Given the description of an element on the screen output the (x, y) to click on. 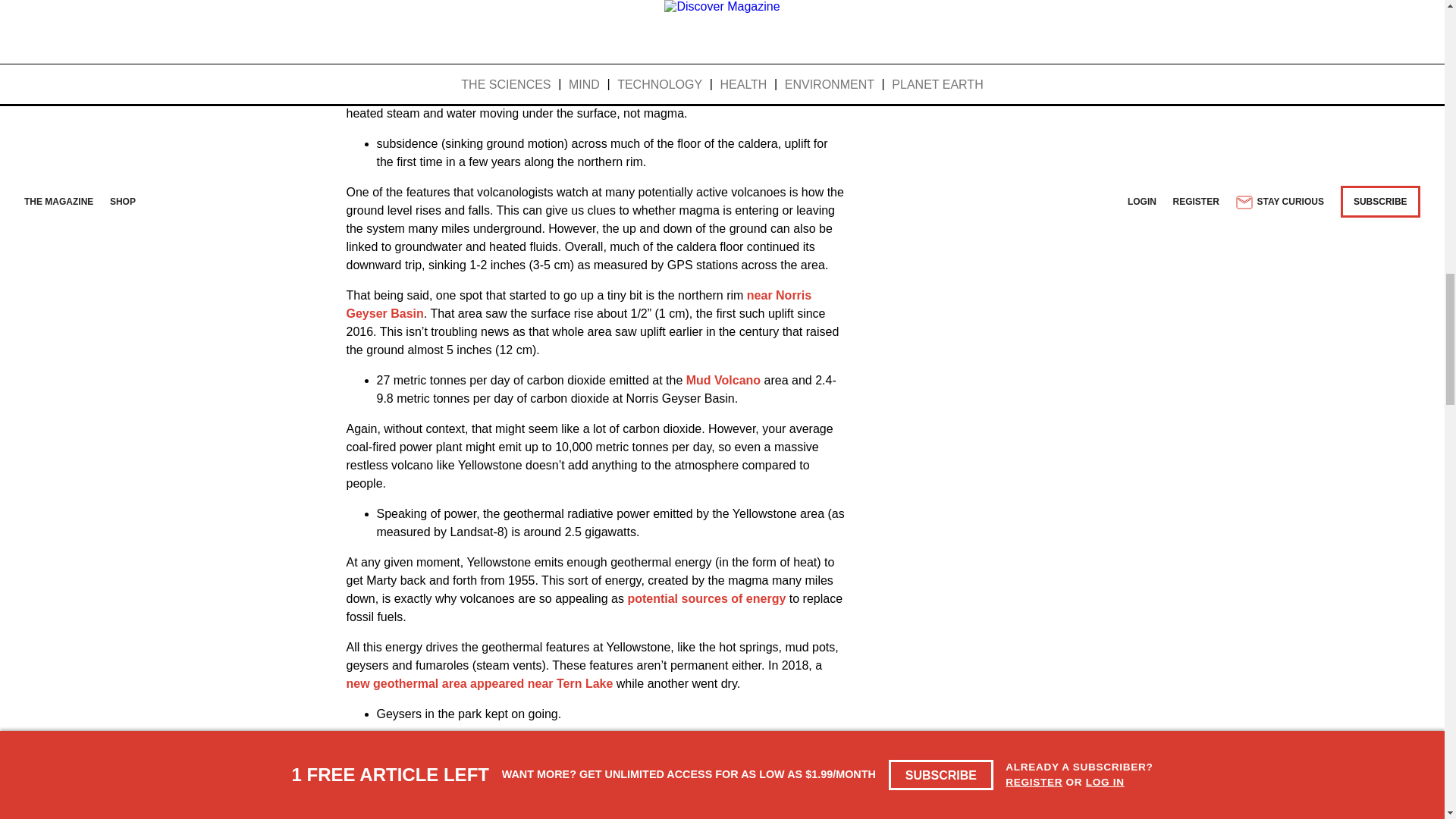
Steamboat Geyser (656, 744)
Mud Volcano (722, 379)
near Norris Geyser Basin (578, 304)
potential sources of energy (706, 598)
new geothermal area appeared near Tern Lake (479, 683)
